Given the description of an element on the screen output the (x, y) to click on. 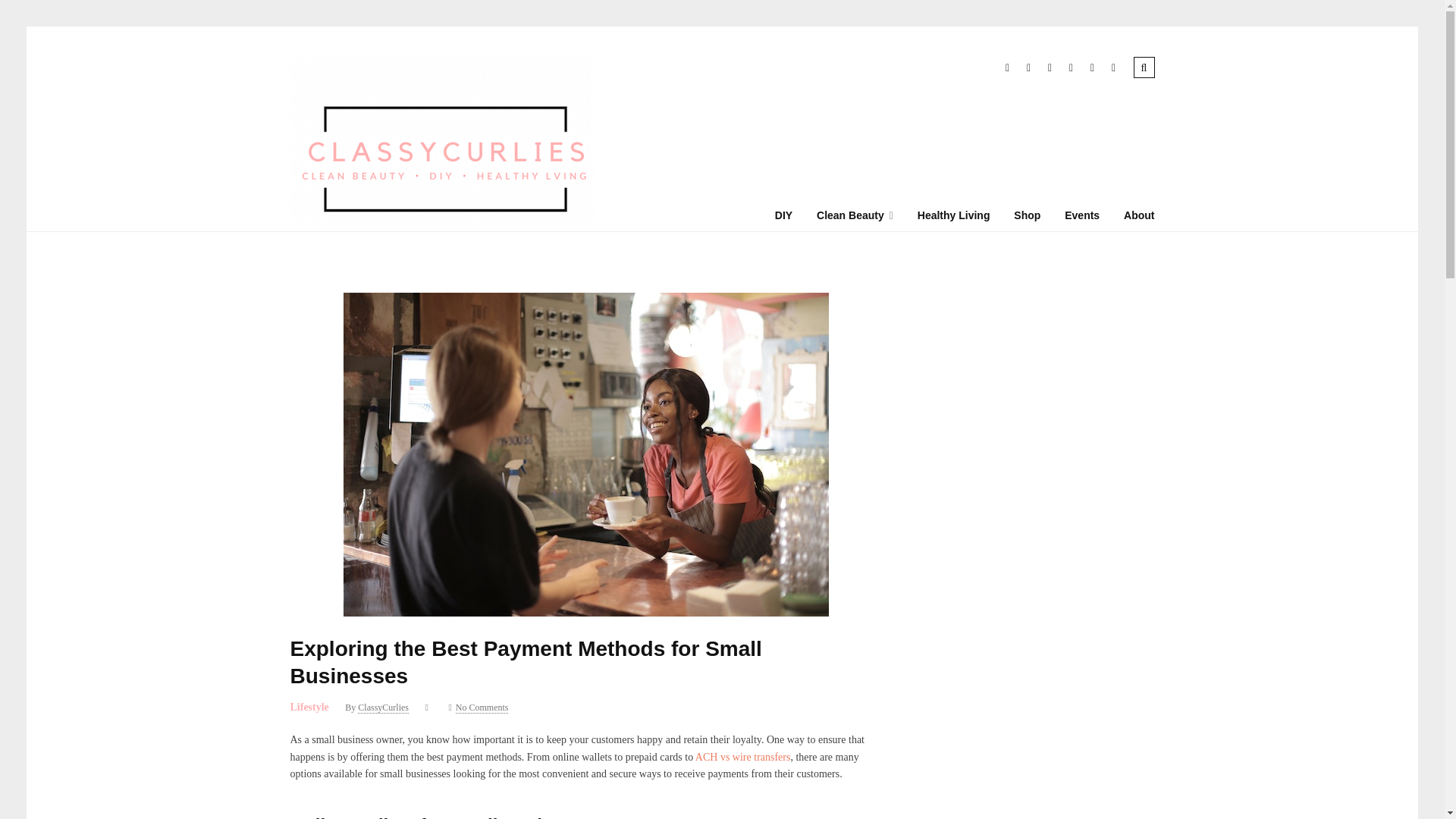
No Comments (481, 707)
ACH vs wire transfers (742, 756)
Clean Beauty (854, 214)
Healthy Living (953, 214)
Posts by ClassyCurlies (383, 707)
ClassyCurlies (383, 707)
Lifestyle (309, 706)
ClassyCurlies DIY, Clean Beauty and Healthy Living (440, 221)
About (1139, 214)
Events (1081, 214)
